Given the description of an element on the screen output the (x, y) to click on. 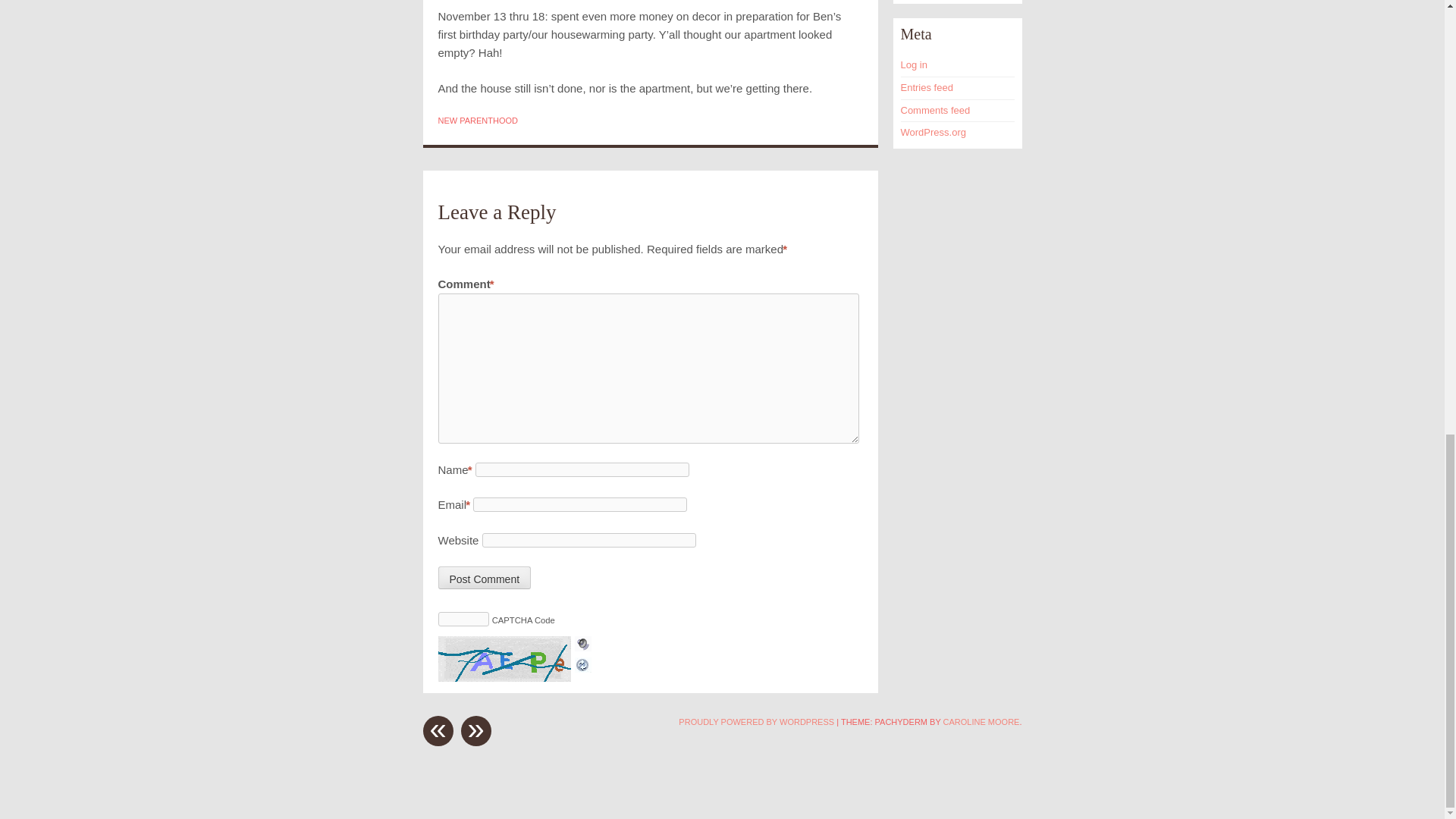
CAROLINE MOORE (981, 721)
NEW PARENTHOOD (478, 120)
PROUDLY POWERED BY WORDPRESS (756, 721)
Post Comment (484, 577)
A Semantic Personal Publishing Platform (756, 721)
CAPTCHA Audio (583, 644)
WordPress.org (933, 132)
CAPTCHA Image (506, 658)
Entries feed (927, 87)
Comments feed (936, 110)
Log in (914, 64)
Post Comment (484, 577)
Refresh Image (583, 662)
